Given the description of an element on the screen output the (x, y) to click on. 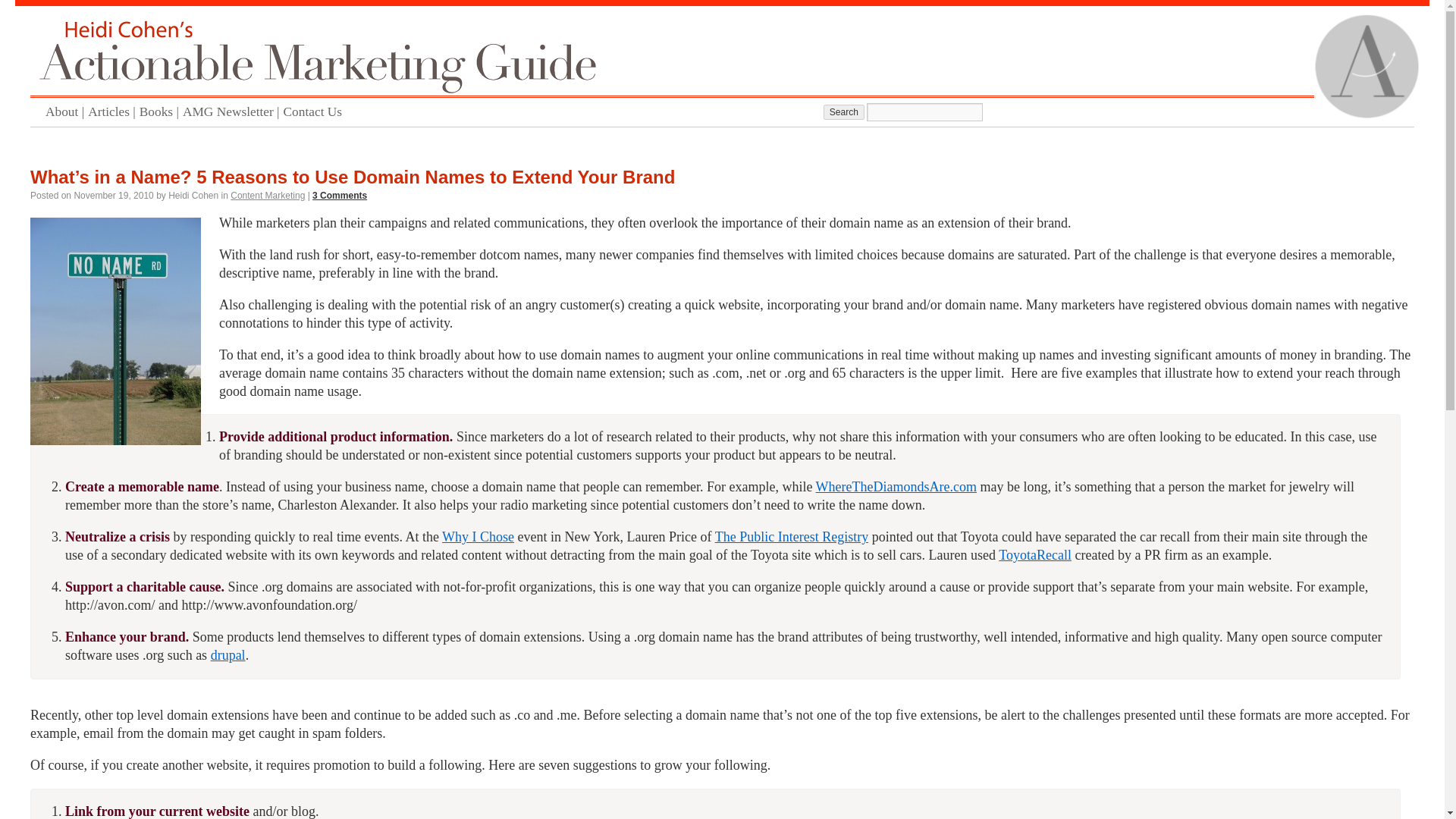
Books (161, 111)
3 Comments (339, 195)
The Public Interest Registry (790, 536)
AMG Newsletter (233, 111)
Subscribe To Our Newsletter (233, 111)
Search (844, 111)
Articles (113, 111)
Why I Chose (477, 536)
About (66, 111)
ToyotaRecall (1034, 554)
